Given the description of an element on the screen output the (x, y) to click on. 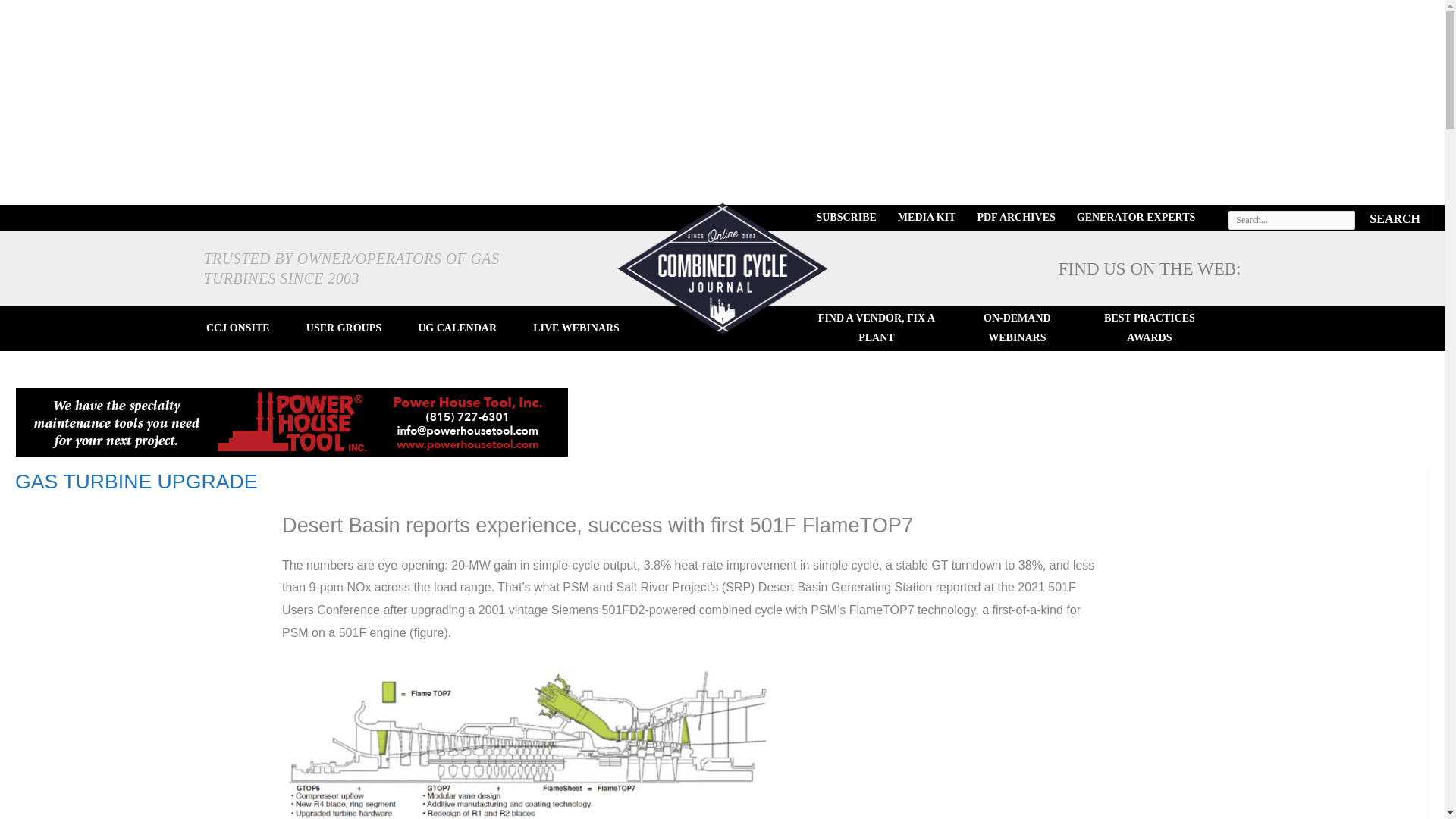
GENERATOR EXPERTS (1136, 217)
Search (1394, 217)
Search (1394, 217)
BEST PRACTICES AWARDS (1148, 328)
USER GROUPS (343, 328)
CCJ ONSITE (237, 328)
FIND A VENDOR, FIX A PLANT (876, 328)
MEDIA KIT (926, 217)
UG CALENDAR (456, 328)
SUBSCRIBE (845, 217)
LIVE WEBINARS (577, 328)
ON-DEMAND WEBINARS (1016, 328)
Search (1394, 217)
PDF ARCHIVES (1015, 217)
